Given the description of an element on the screen output the (x, y) to click on. 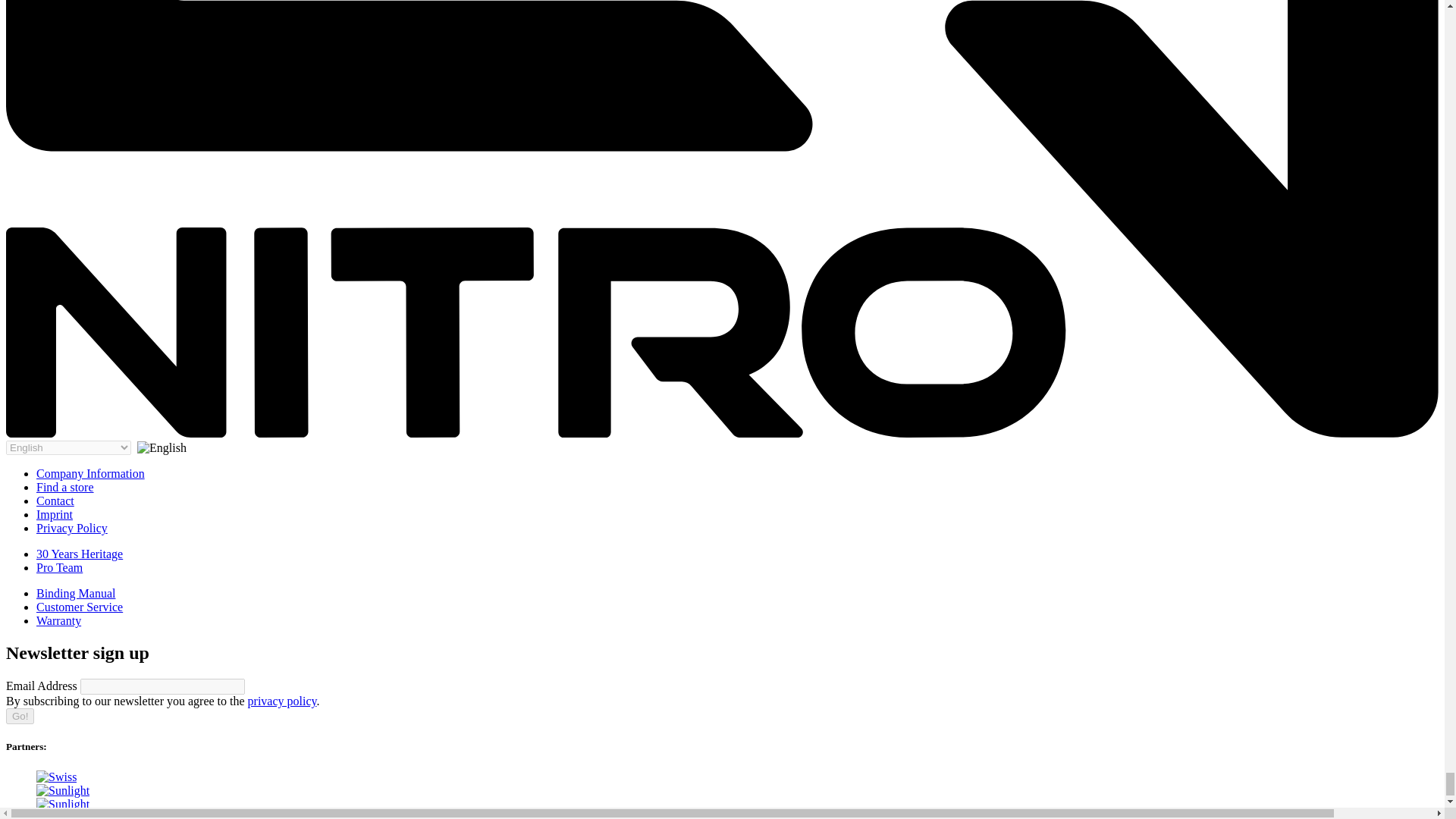
Binding Manual (75, 593)
Imprint (54, 513)
Privacy Policy (71, 527)
Pro Team (59, 567)
30 Years Heritage (79, 553)
English (161, 448)
Go! (19, 715)
Company Information (90, 472)
Find a store (65, 486)
Contact (55, 500)
